Given the description of an element on the screen output the (x, y) to click on. 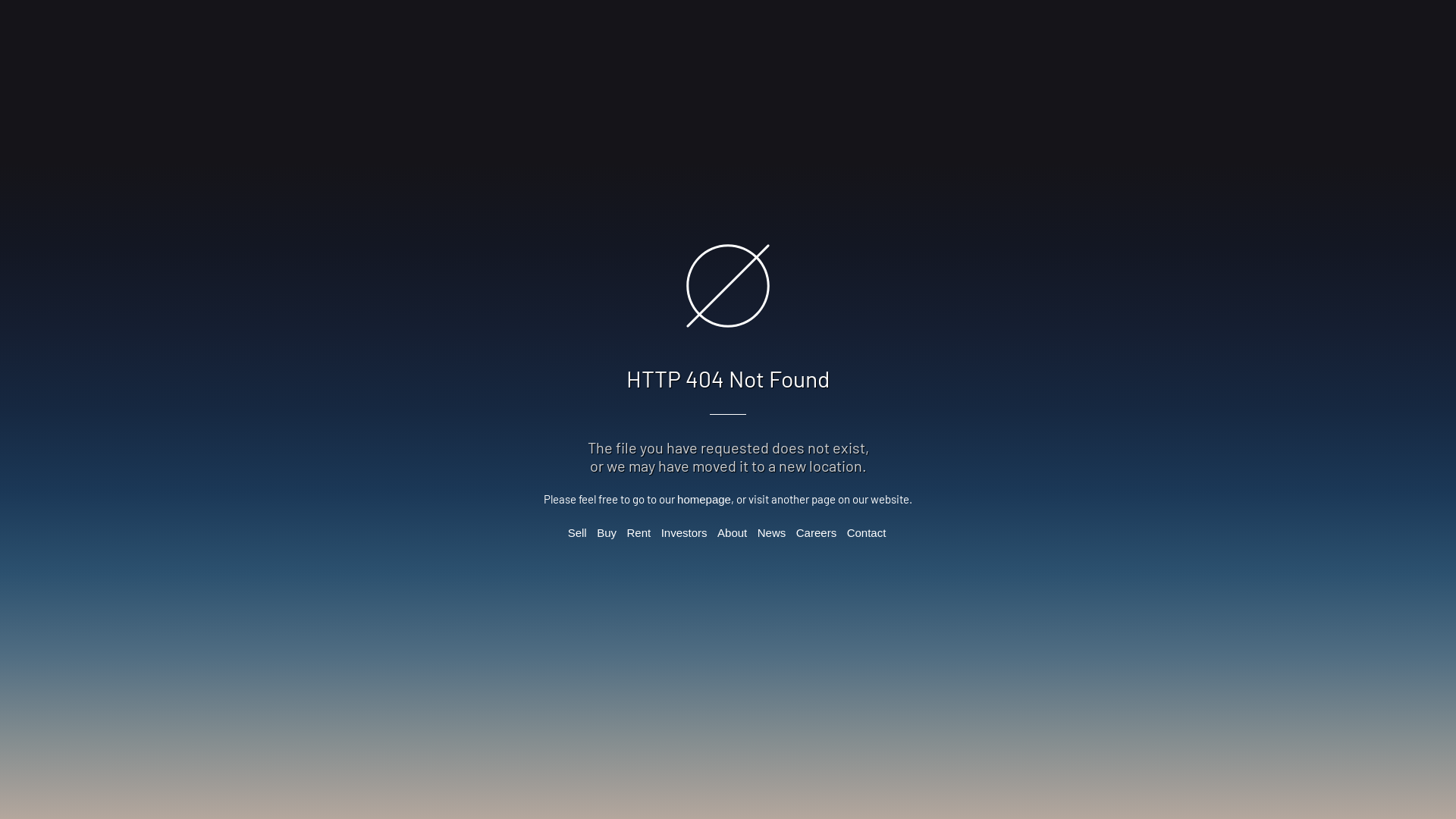
Buy Element type: text (606, 532)
About Element type: text (731, 532)
Sell Element type: text (576, 532)
Contact Element type: text (866, 532)
homepage Element type: text (704, 498)
News Element type: text (771, 532)
Investors Element type: text (684, 532)
Careers Element type: text (816, 532)
Rent Element type: text (639, 532)
